Given the description of an element on the screen output the (x, y) to click on. 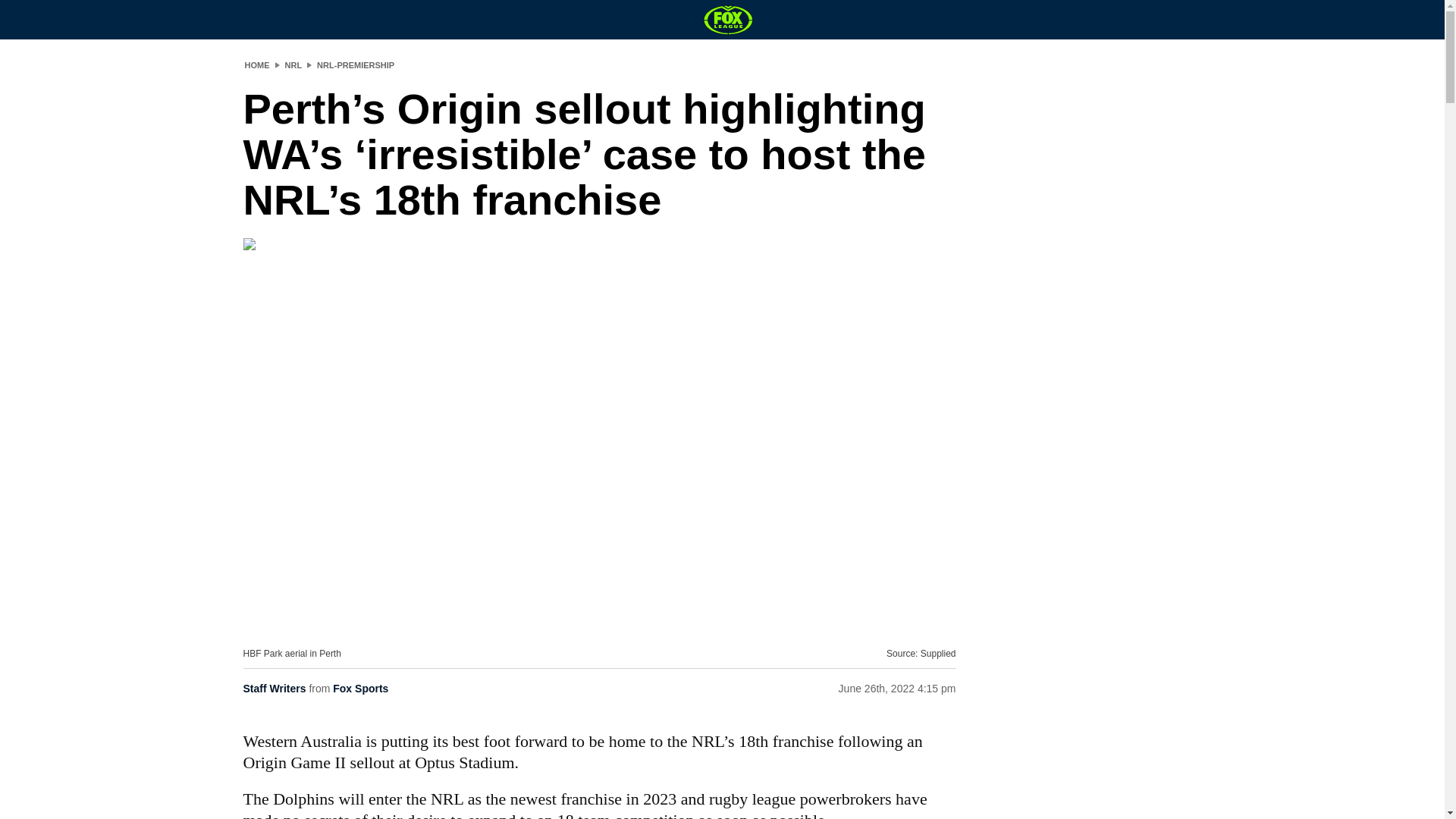
NRL (293, 64)
HOME (256, 64)
NRL-PREMIERSHIP (355, 64)
